Given the description of an element on the screen output the (x, y) to click on. 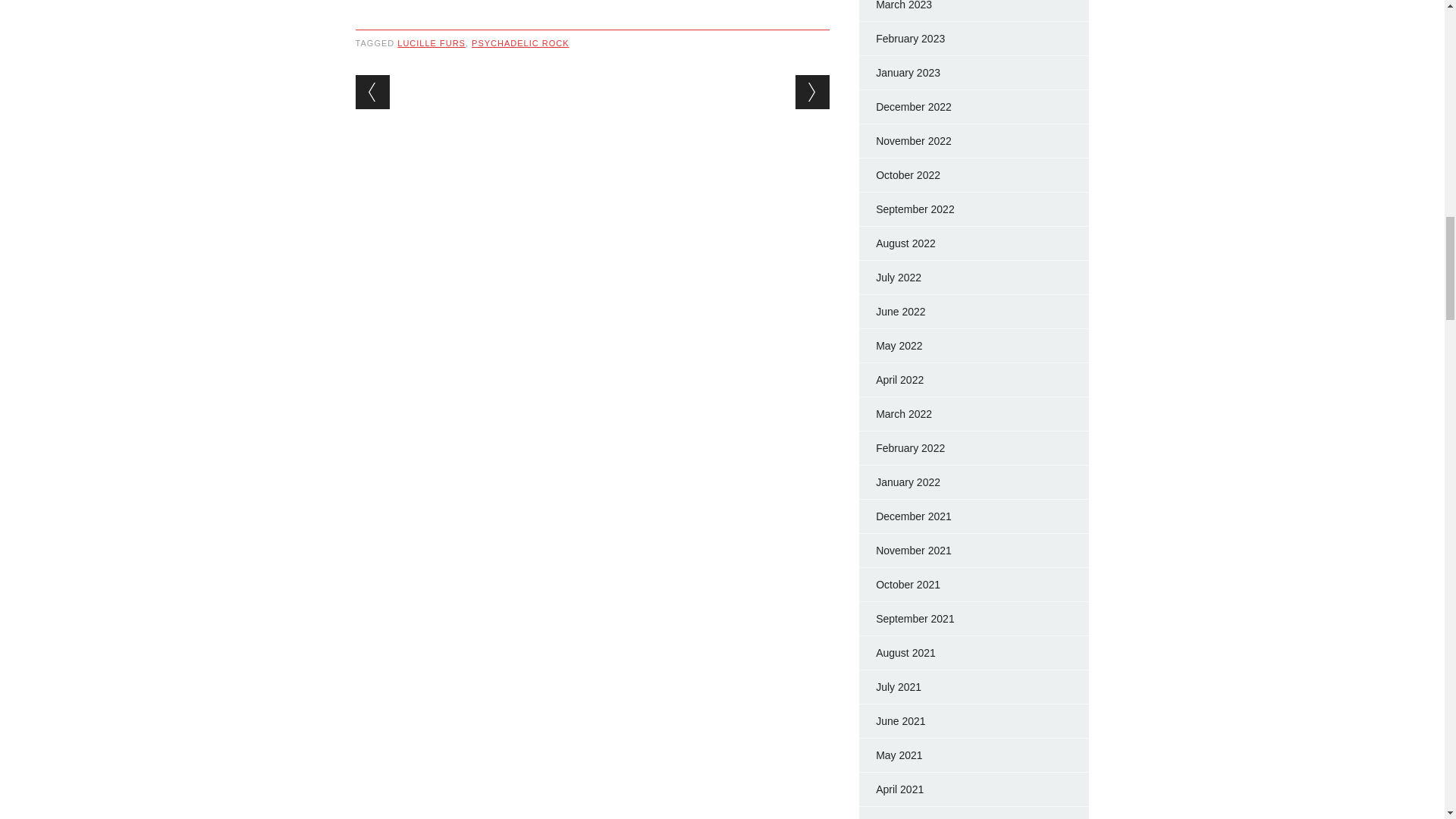
LUCILLE FURS (431, 42)
PSYCHADELIC ROCK (520, 42)
